Given the description of an element on the screen output the (x, y) to click on. 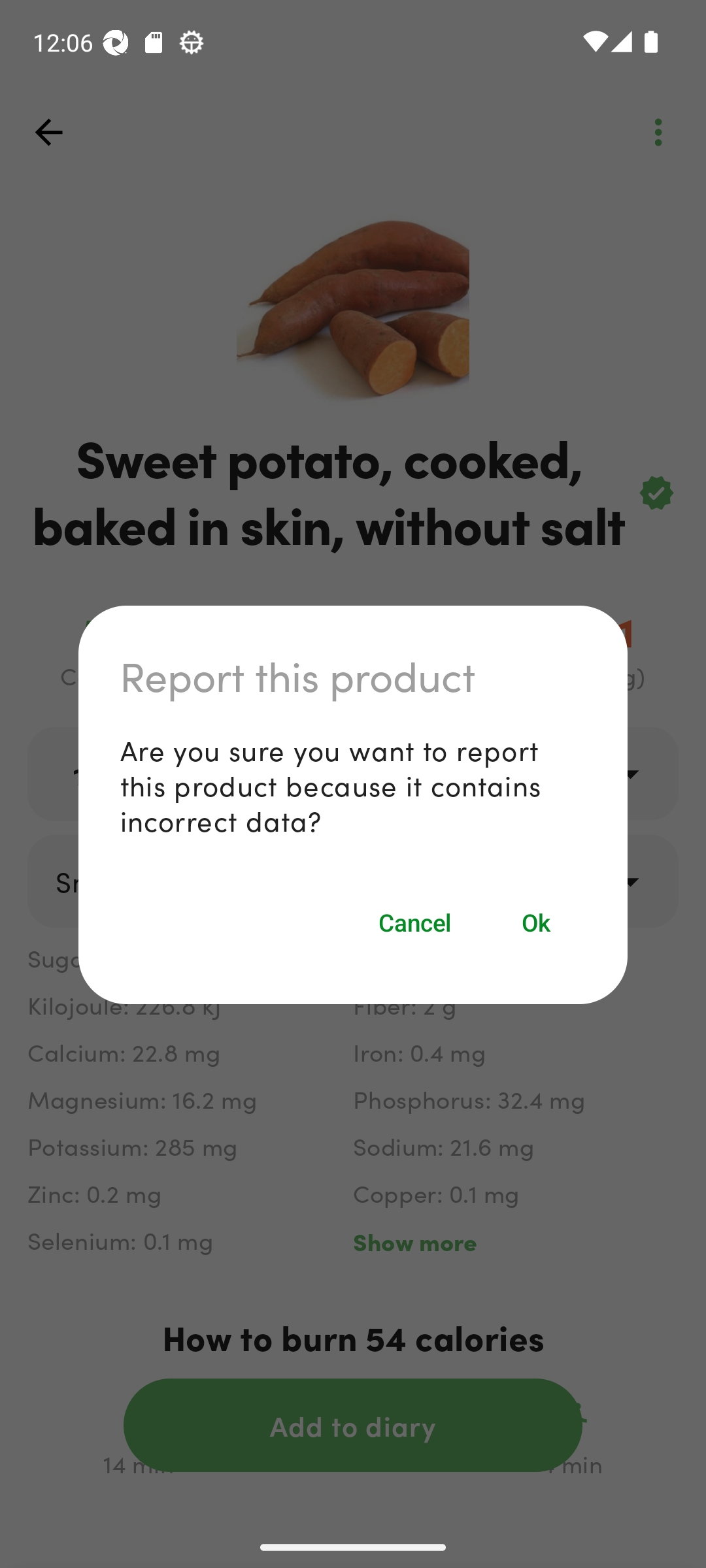
Cancel (415, 922)
Ok (536, 922)
